Given the description of an element on the screen output the (x, y) to click on. 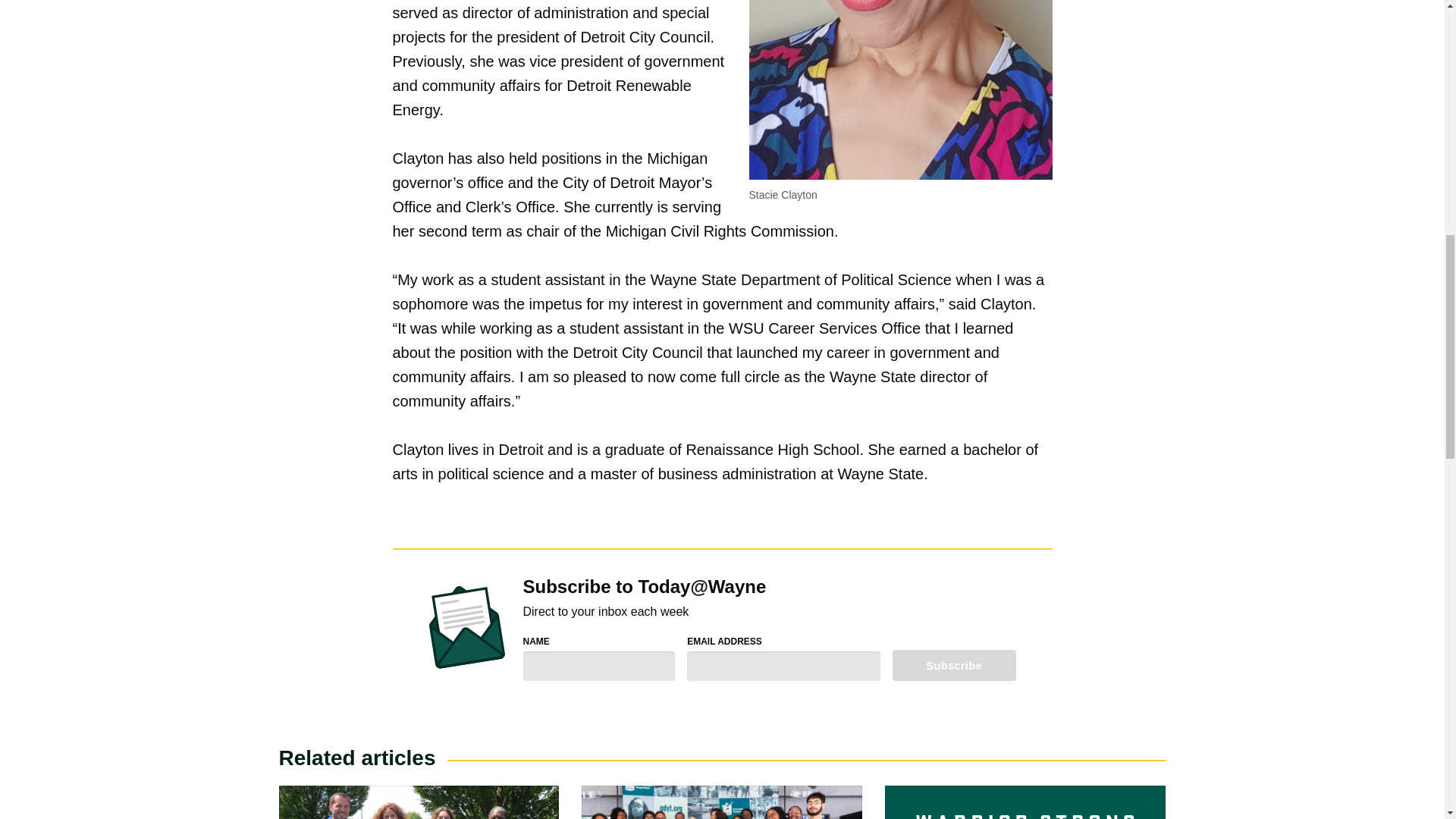
Subscribe (954, 665)
Subscribe (954, 665)
